Given the description of an element on the screen output the (x, y) to click on. 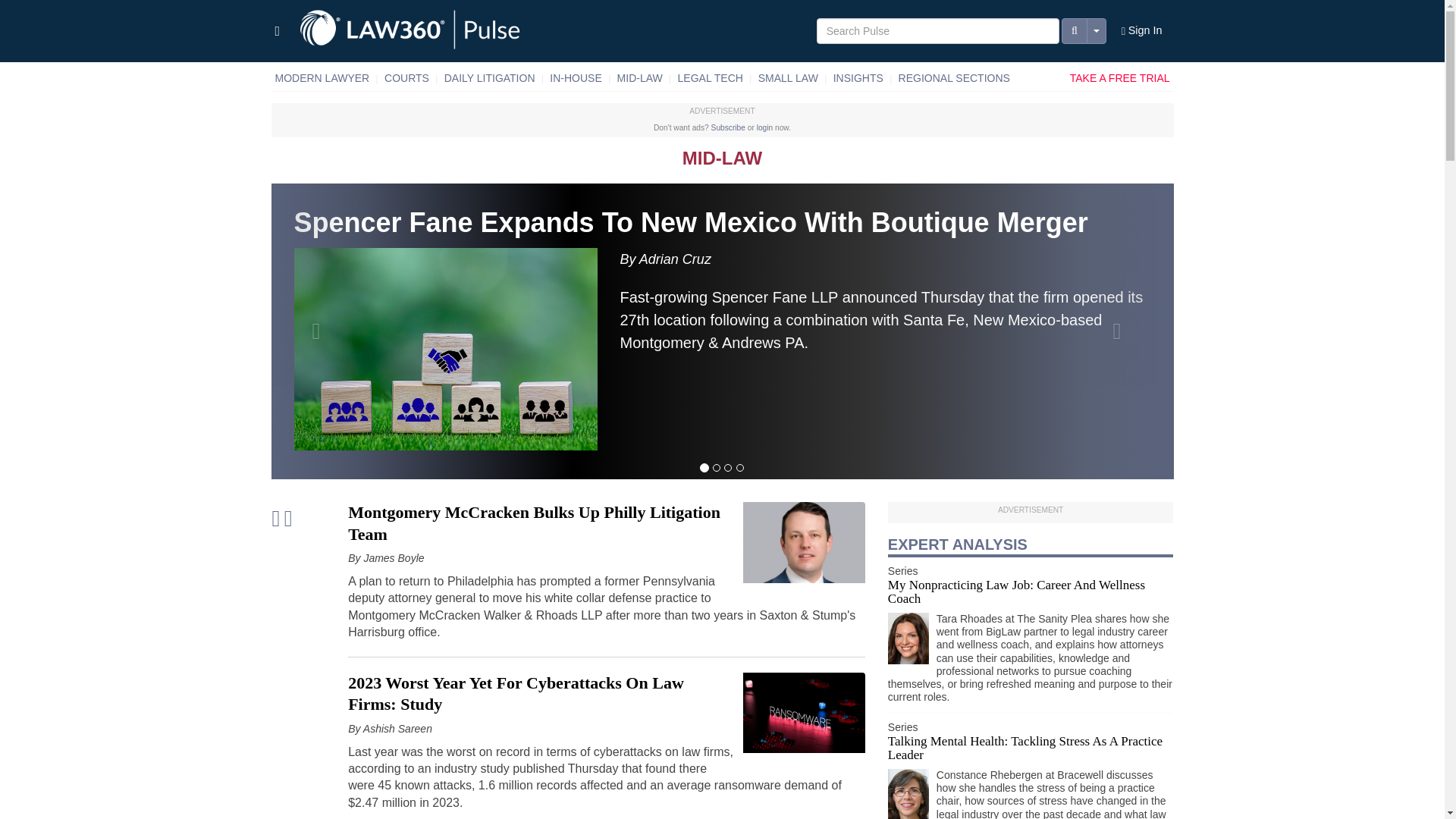
SMALL LAW (788, 77)
Courts (406, 77)
Mid-Law (639, 77)
COURTS (406, 77)
  Sign In (1141, 31)
Legal Tech (710, 77)
REGIONAL SECTIONS (954, 77)
Small Law (788, 77)
Search Button (1074, 31)
DAILY LITIGATION (489, 77)
Modern Lawyer (322, 77)
INSIGHTS (857, 77)
LEGAL TECH (710, 77)
IN-HOUSE (575, 77)
Daily Litigation (489, 77)
